Given the description of an element on the screen output the (x, y) to click on. 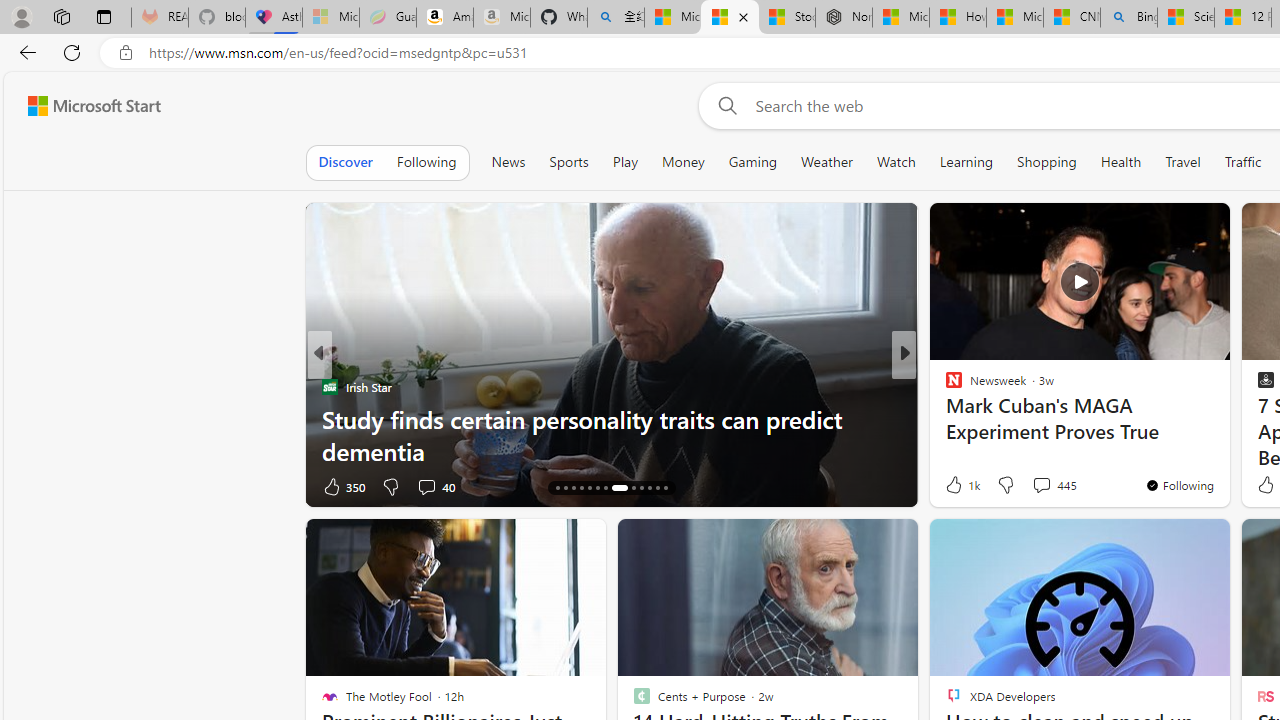
AutomationID: tab-16 (573, 487)
AutomationID: tab-22 (632, 487)
AutomationID: tab-18 (588, 487)
AutomationID: tab-25 (656, 487)
View comments 34 Comment (1036, 485)
FOX News (944, 386)
Newsweek (944, 386)
AutomationID: tab-19 (596, 487)
View comments 40 Comment (426, 485)
86 Like (956, 486)
14 Like (956, 486)
